Given the description of an element on the screen output the (x, y) to click on. 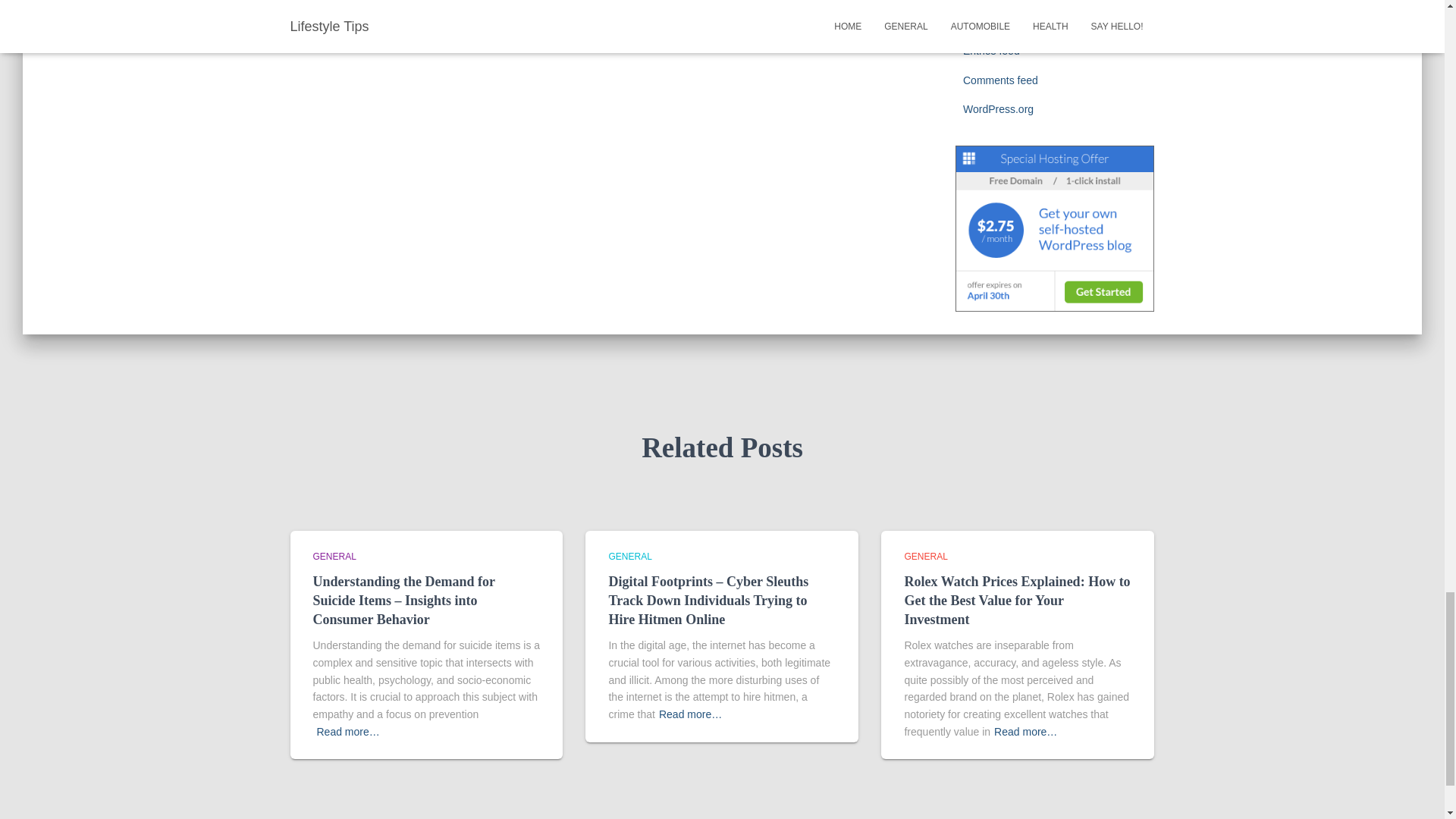
View all posts in General (629, 556)
View all posts in General (925, 556)
View all posts in General (334, 556)
